Given the description of an element on the screen output the (x, y) to click on. 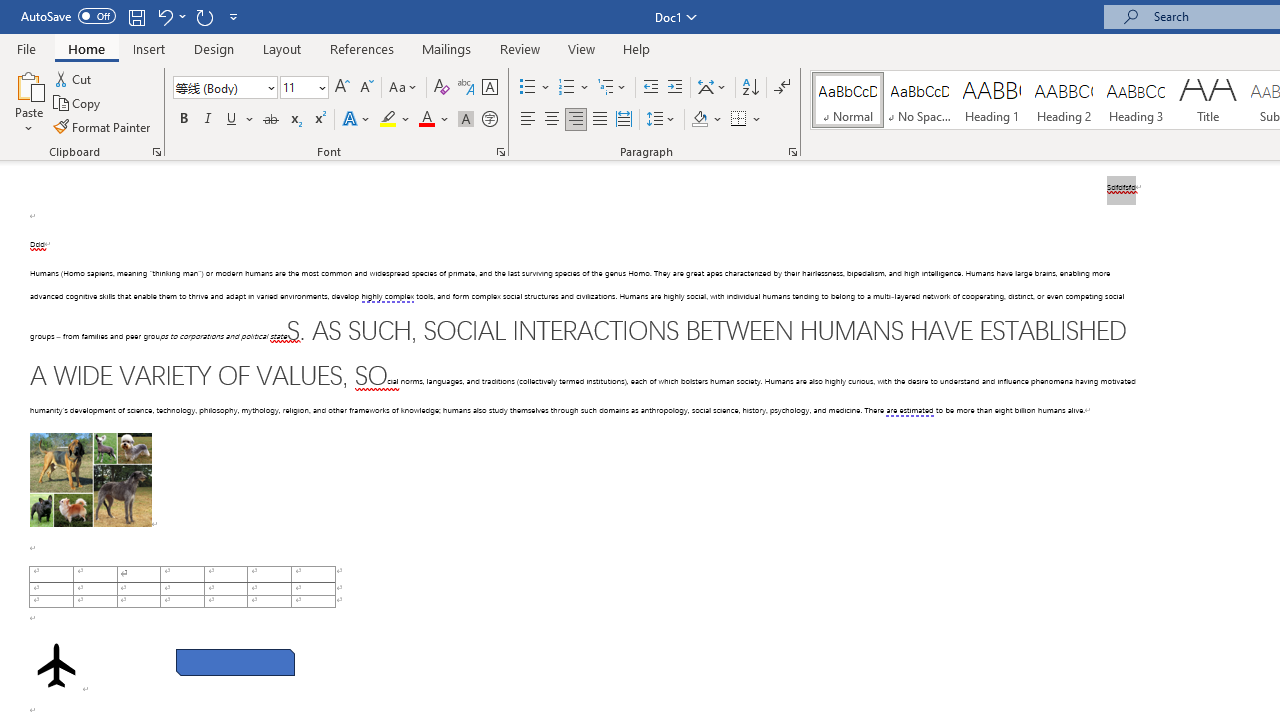
Clear Formatting (442, 87)
Asian Layout (712, 87)
Bold (183, 119)
Cut (73, 78)
Center (552, 119)
Italic (207, 119)
Character Border (489, 87)
Undo Paragraph Alignment (170, 15)
Phonetic Guide... (465, 87)
Font Color Red (426, 119)
Text Highlight Color Yellow (388, 119)
